Given the description of an element on the screen output the (x, y) to click on. 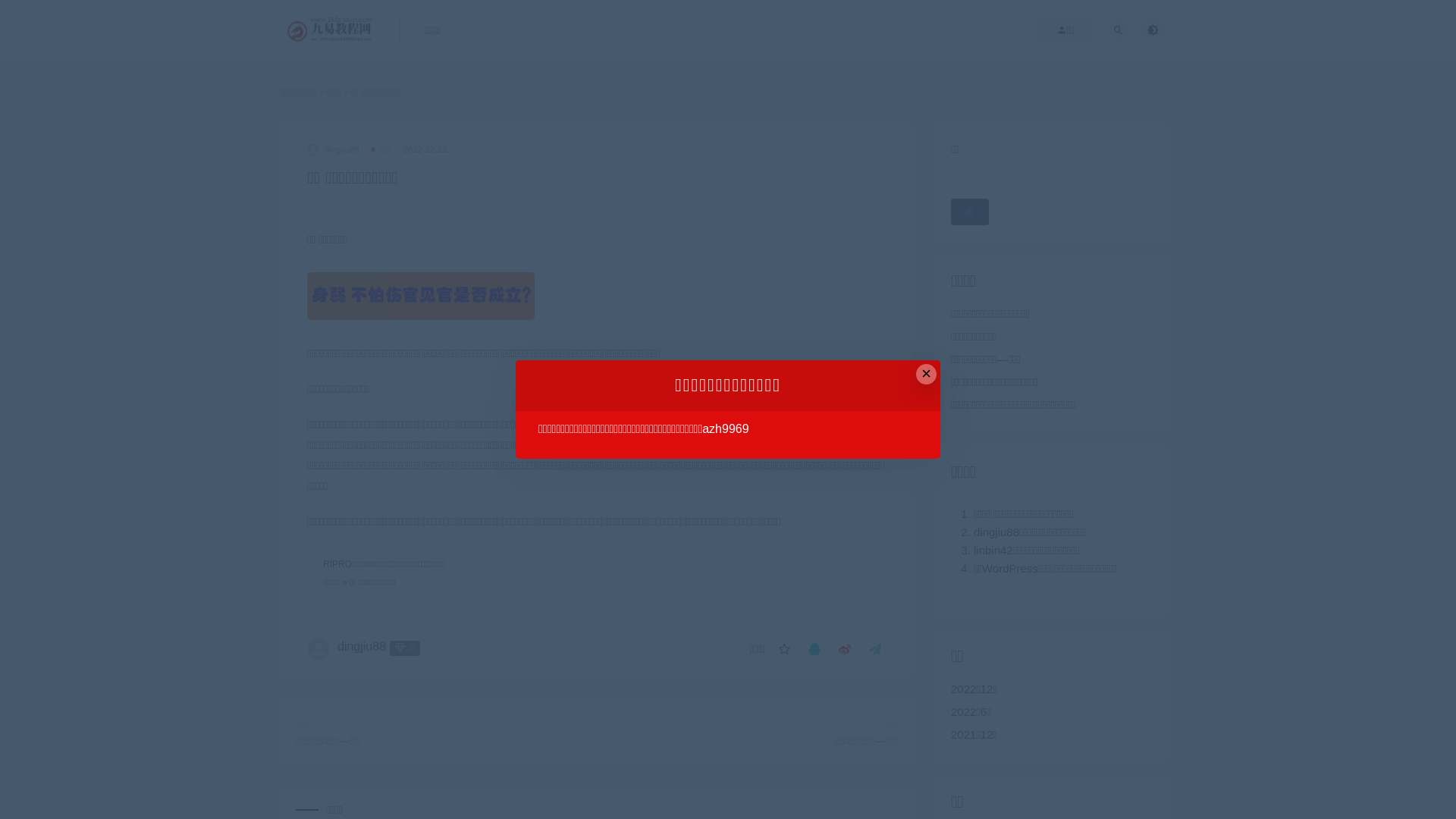
2022-12-22 Element type: text (425, 148)
dingjiu88 Element type: text (361, 646)
dingjiu88 Element type: text (996, 531)
dingjiu88 Element type: text (333, 149)
